Given the description of an element on the screen output the (x, y) to click on. 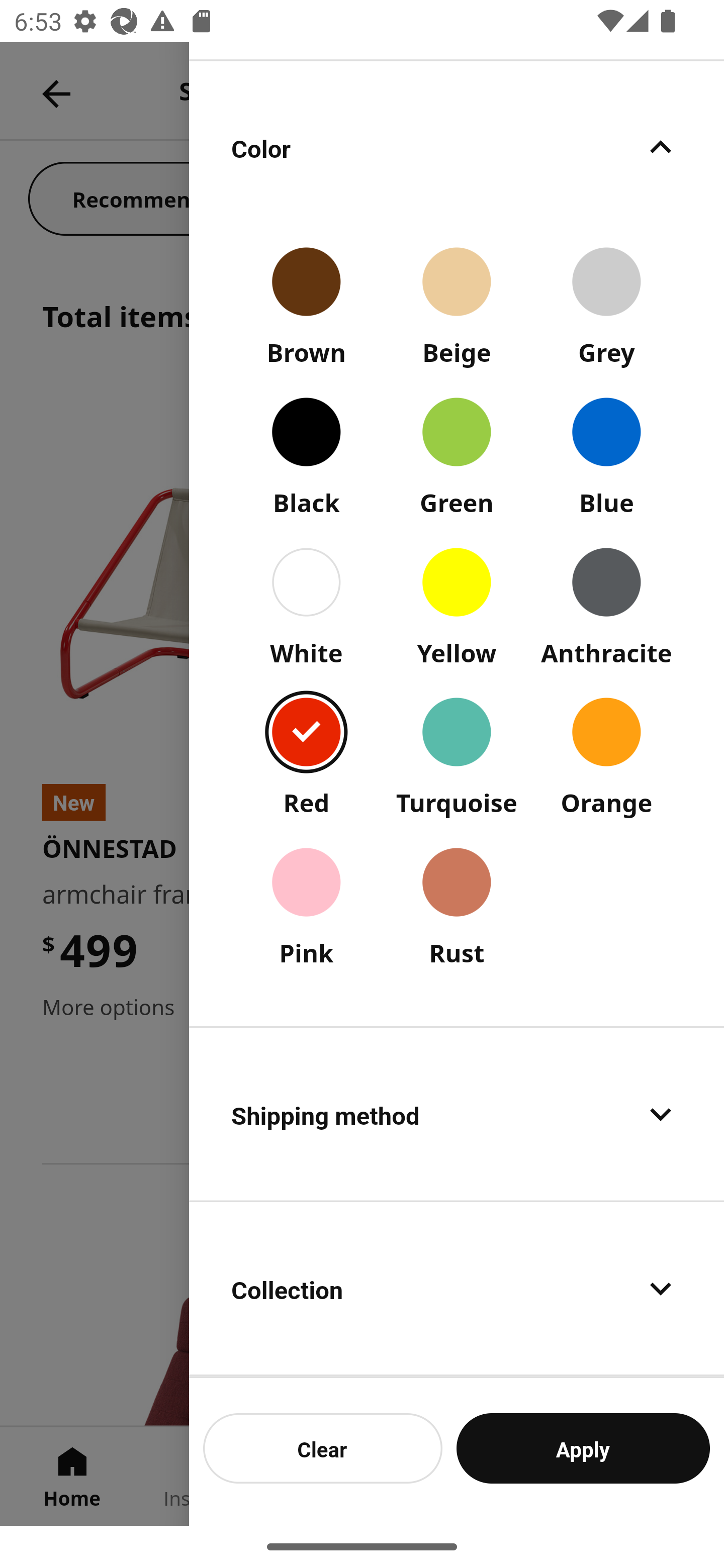
Color (456, 147)
Shipping method (456, 1113)
Collection (456, 1288)
Clear (322, 1447)
Apply (583, 1447)
